Given the description of an element on the screen output the (x, y) to click on. 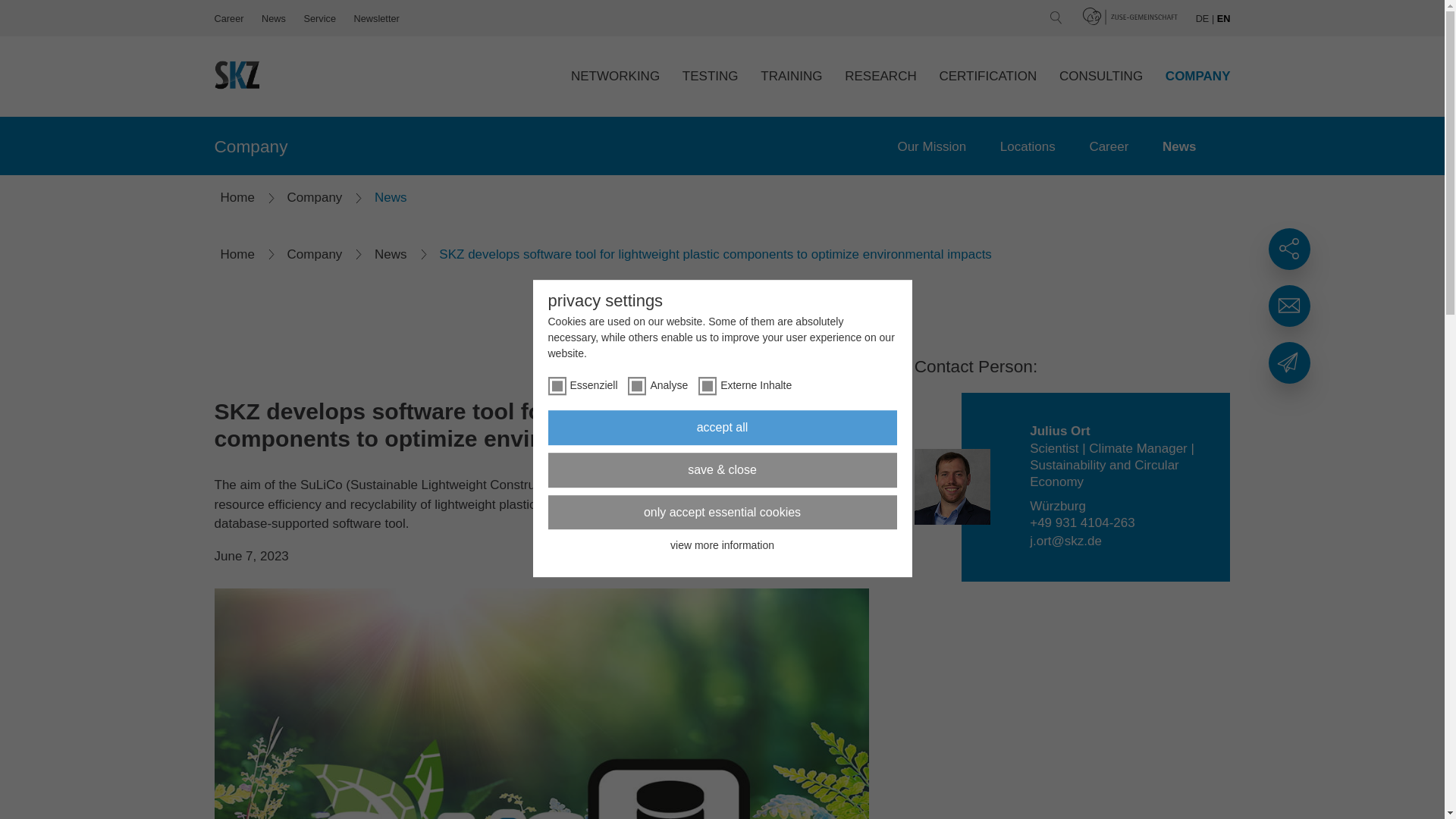
Newsletter (375, 18)
DE (1202, 17)
Company (250, 146)
RESEARCH (879, 76)
COMPANY (1198, 76)
News (1178, 147)
Service (319, 18)
Our Mission (931, 147)
TESTING (710, 76)
CERTIFICATION (987, 76)
